Given the description of an element on the screen output the (x, y) to click on. 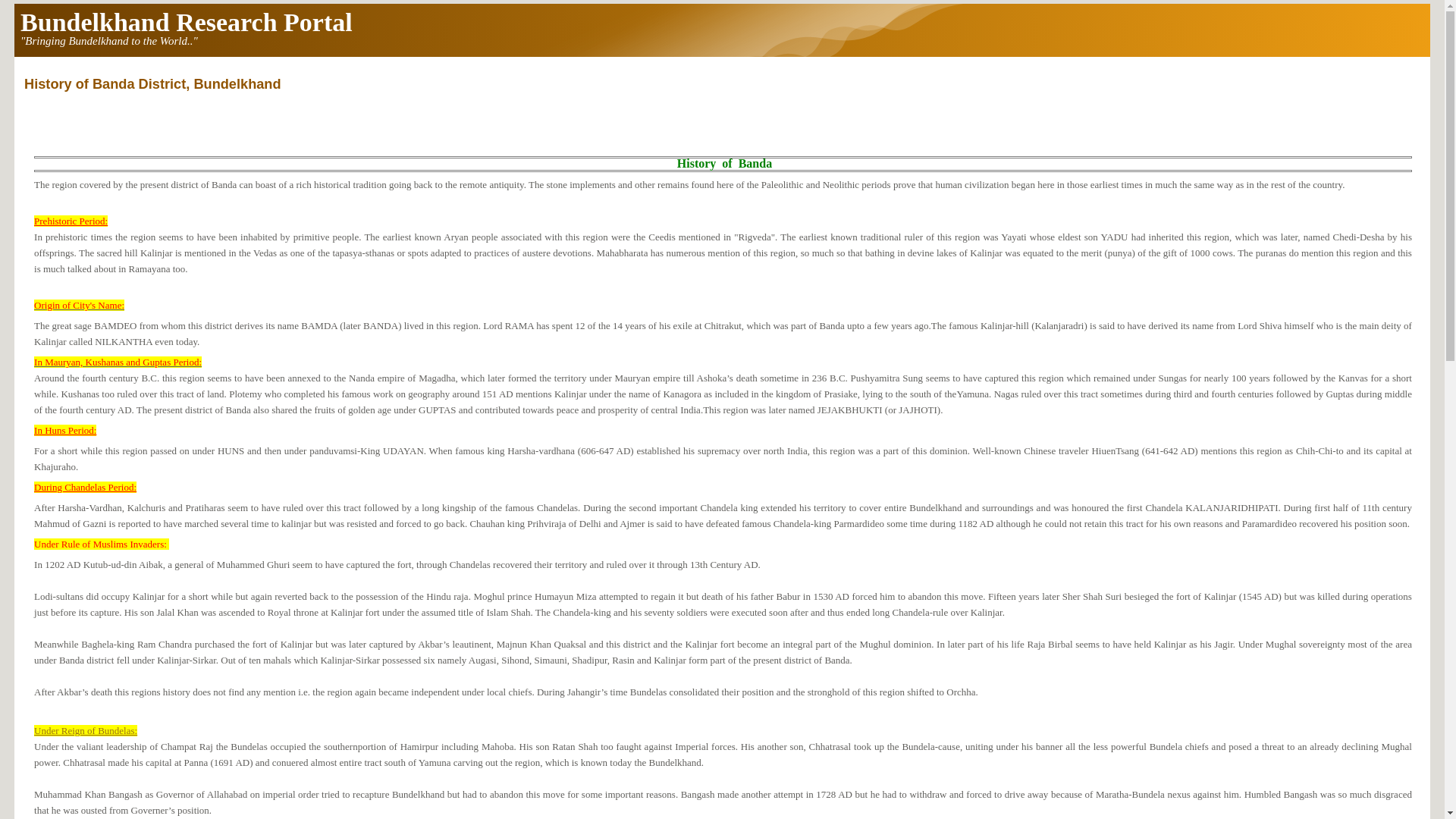
In Huns Period: (64, 430)
In Mauryan, Kushanas and Guptas Period: (117, 361)
Bundelkhand Research Portal (186, 22)
Prehistoric Period: (70, 220)
During Chandelas Period: (84, 487)
Under Reign of Bundelas: (84, 730)
Home (186, 22)
Origin of City's Name: (78, 305)
